Given the description of an element on the screen output the (x, y) to click on. 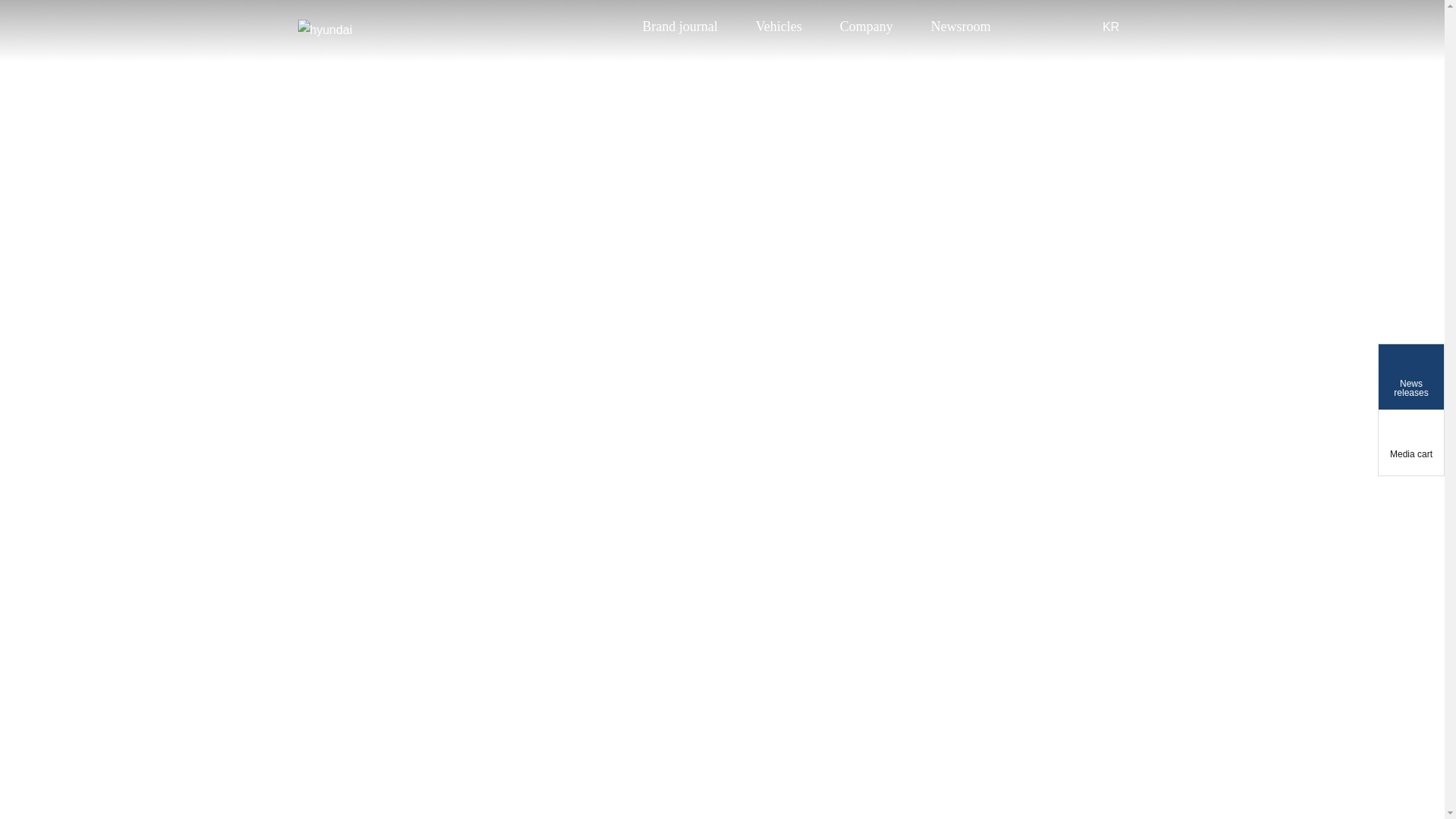
Go to Korean Website (1109, 26)
Company (866, 25)
Vehicles (778, 25)
Brand journal (679, 25)
